Given the description of an element on the screen output the (x, y) to click on. 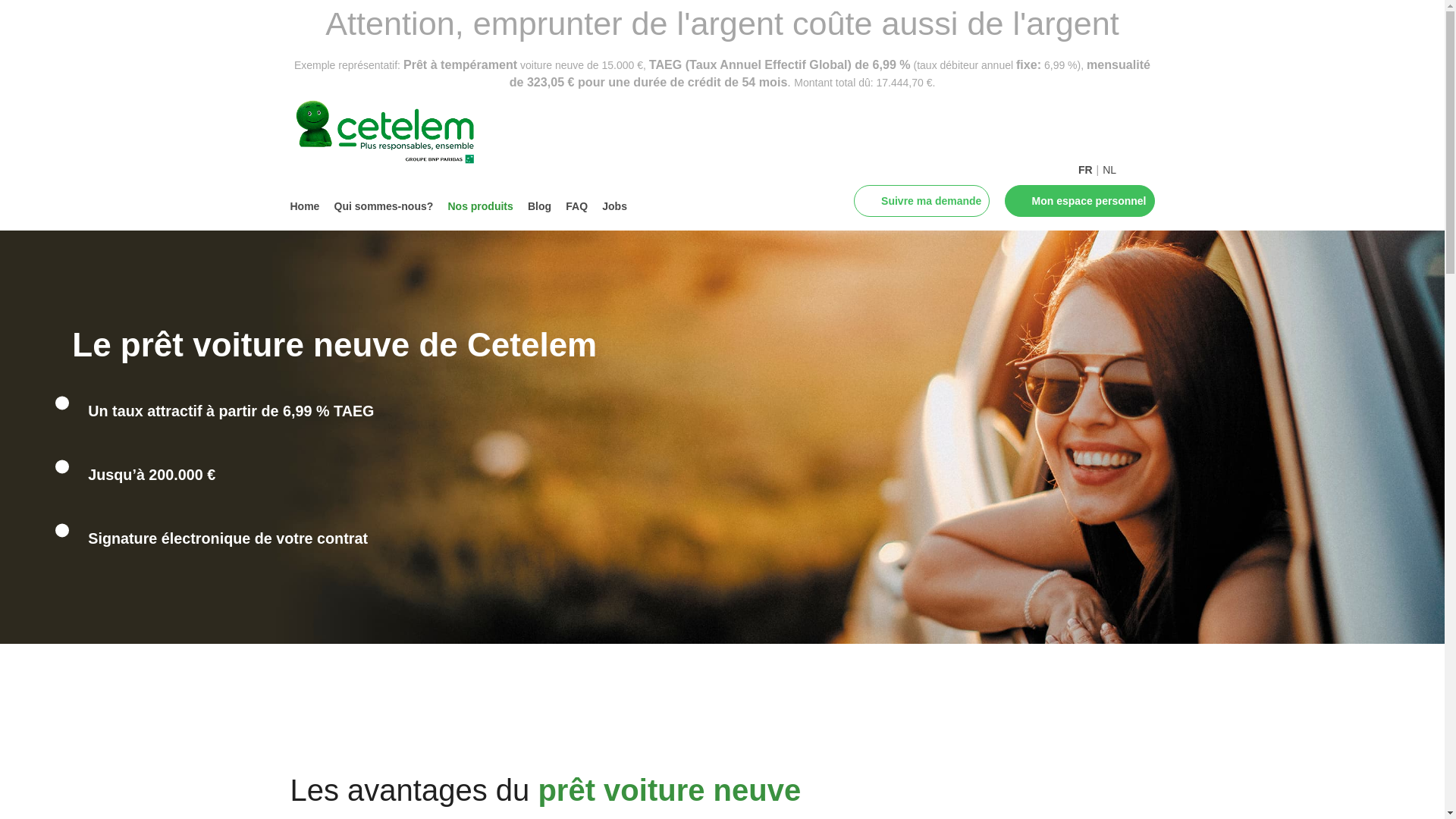
FAQ Element type: text (576, 205)
NL Element type: text (1109, 162)
Jobs Element type: text (614, 205)
FR Element type: text (1085, 162)
Suivre ma demande Element type: text (929, 200)
Nos produits Element type: text (479, 205)
Blog Element type: text (539, 205)
Mon espace personnel Element type: text (1087, 200)
Accueil Element type: hover (399, 134)
Home Element type: text (304, 205)
Qui sommes-nous? Element type: text (383, 205)
